Given the description of an element on the screen output the (x, y) to click on. 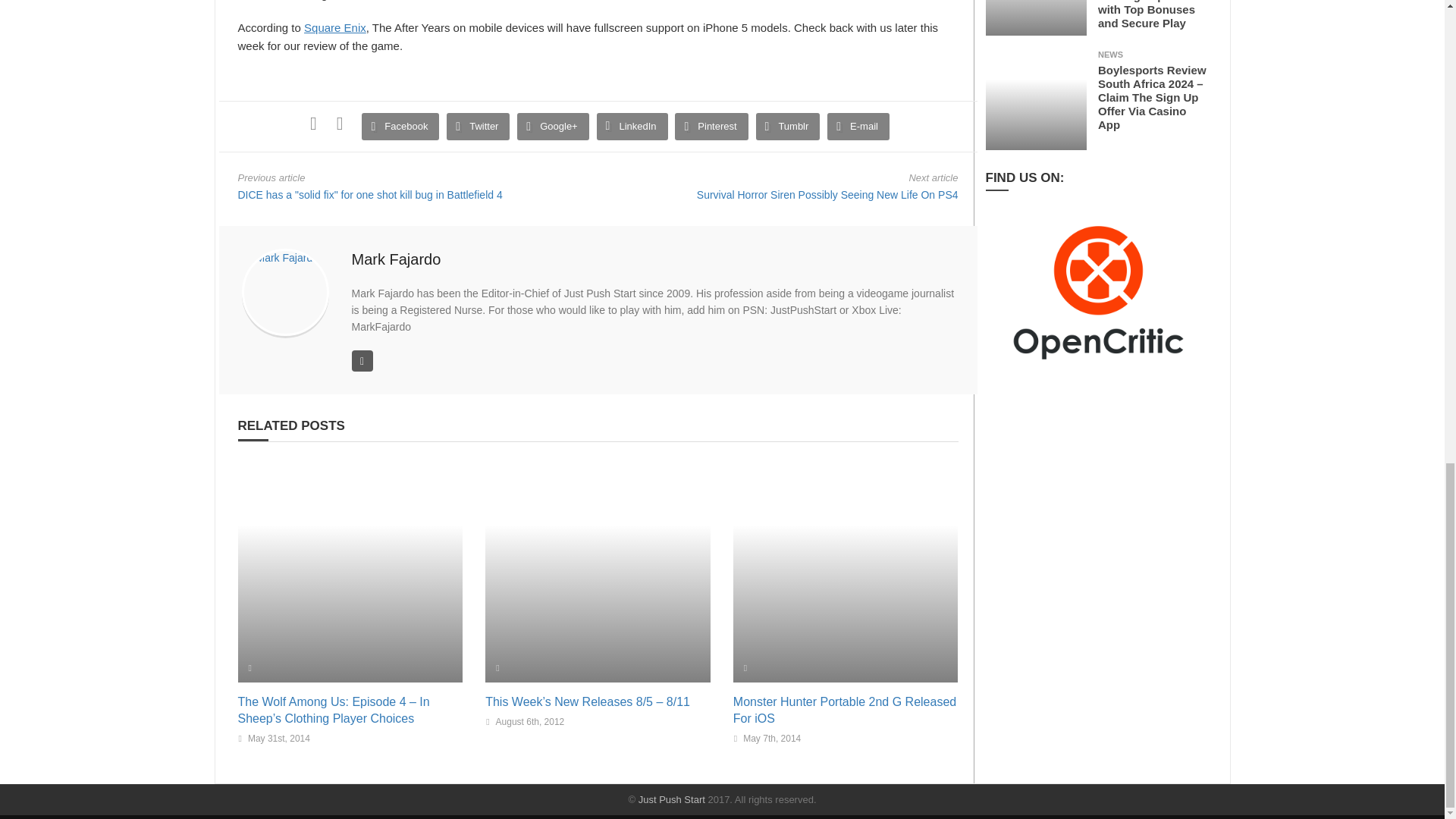
Survival Horror Siren Possibly Seeing New Life On PS4 (827, 194)
Posts by Mark Fajardo (396, 258)
